Given the description of an element on the screen output the (x, y) to click on. 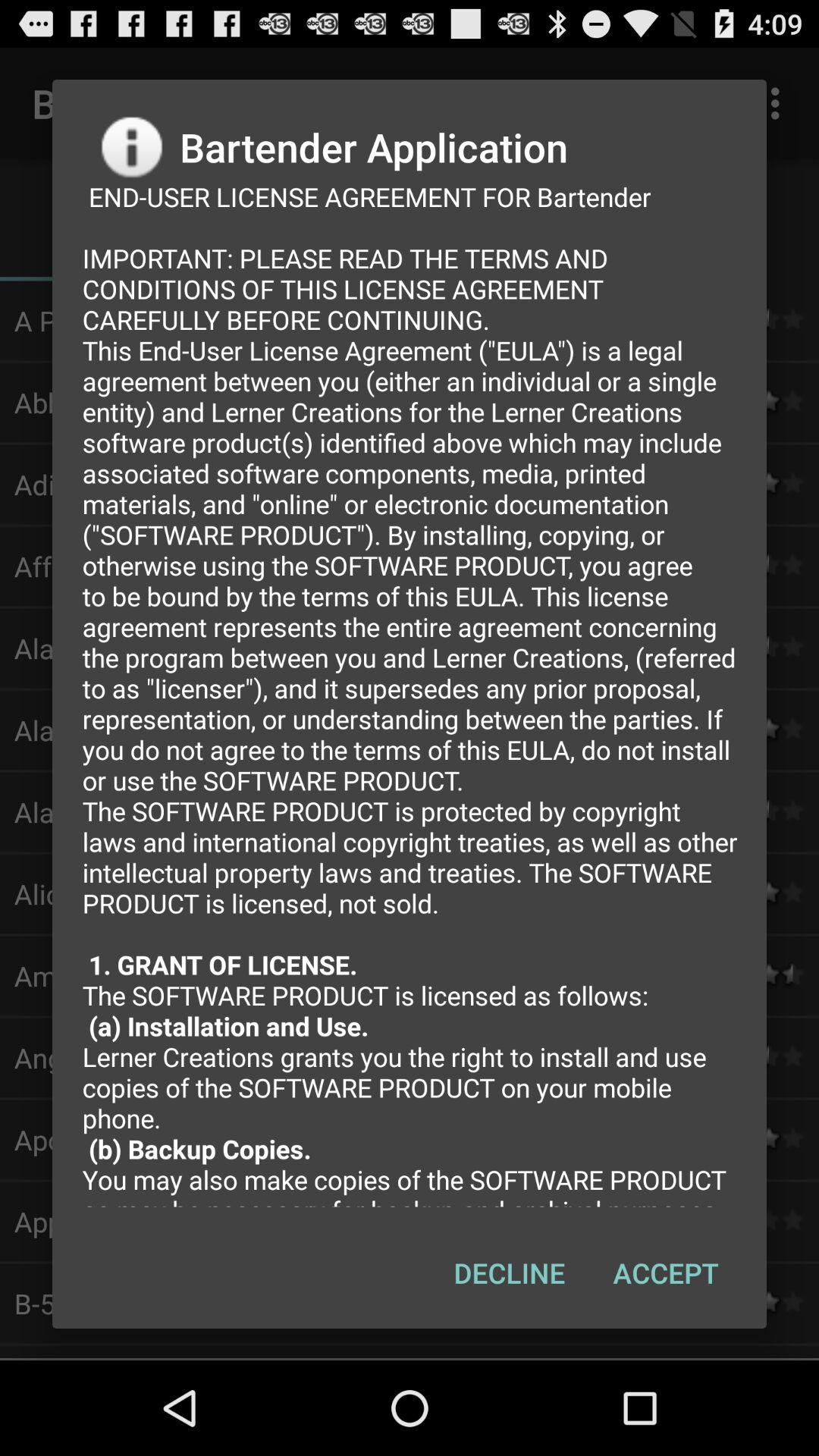
launch accept (665, 1272)
